Given the description of an element on the screen output the (x, y) to click on. 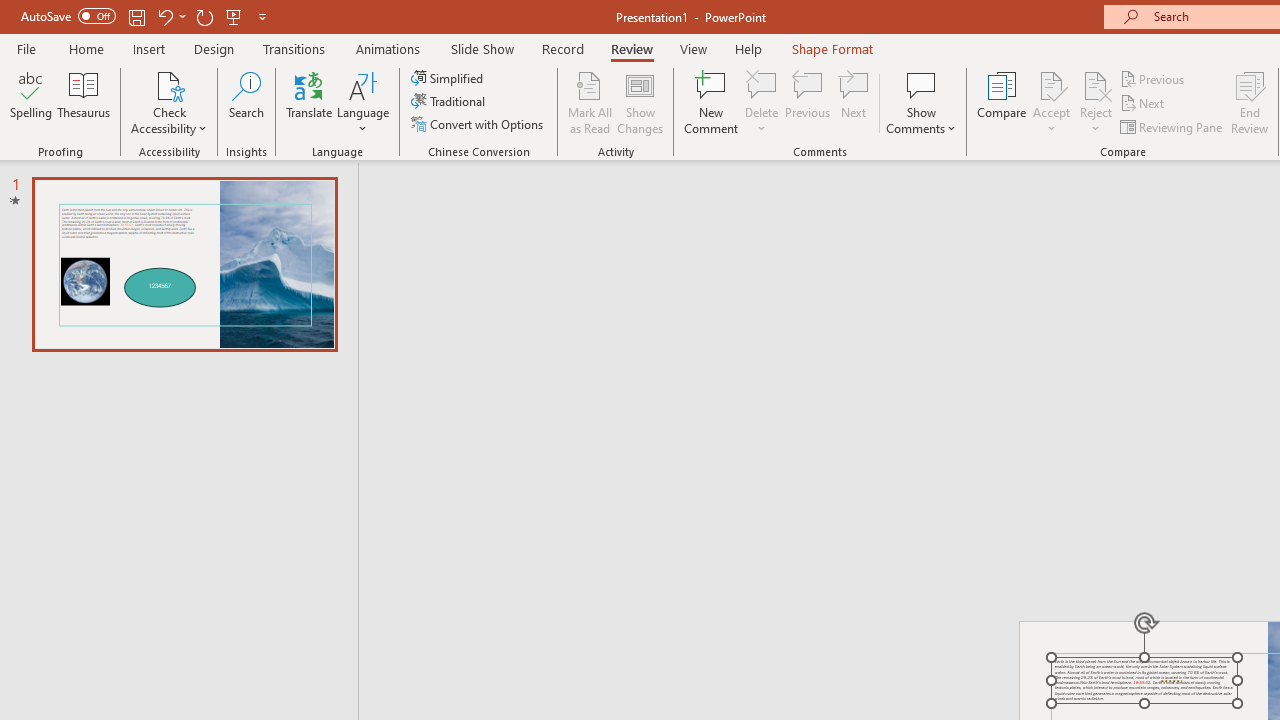
Compare (1002, 102)
Reject Change (1096, 84)
Traditional (449, 101)
New Comment (711, 102)
Accept Change (1051, 84)
Translate (309, 102)
End Review (1249, 102)
